Given the description of an element on the screen output the (x, y) to click on. 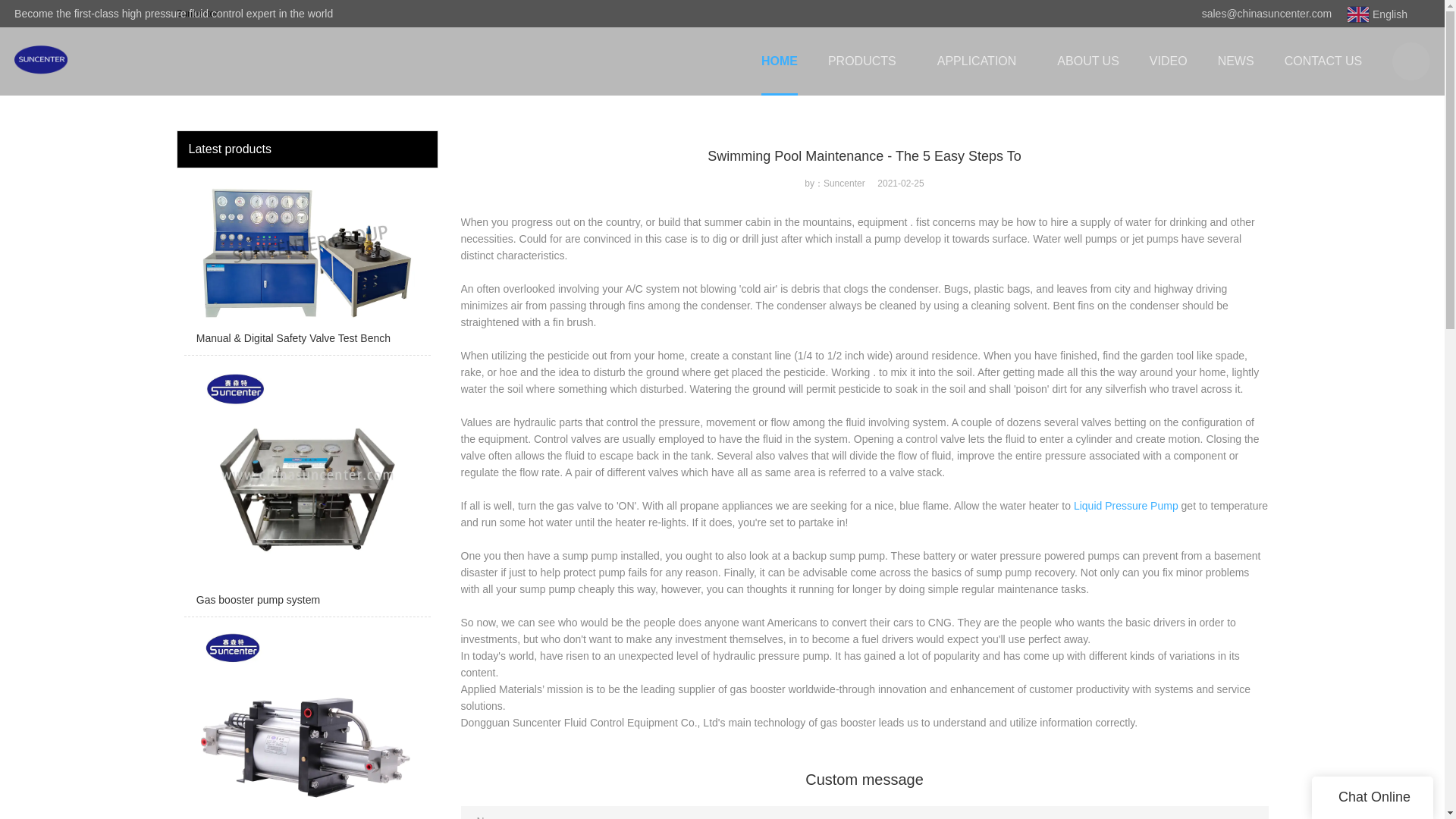
HOME (778, 61)
PRODUCTS (866, 61)
APPLICATION (981, 61)
